Given the description of an element on the screen output the (x, y) to click on. 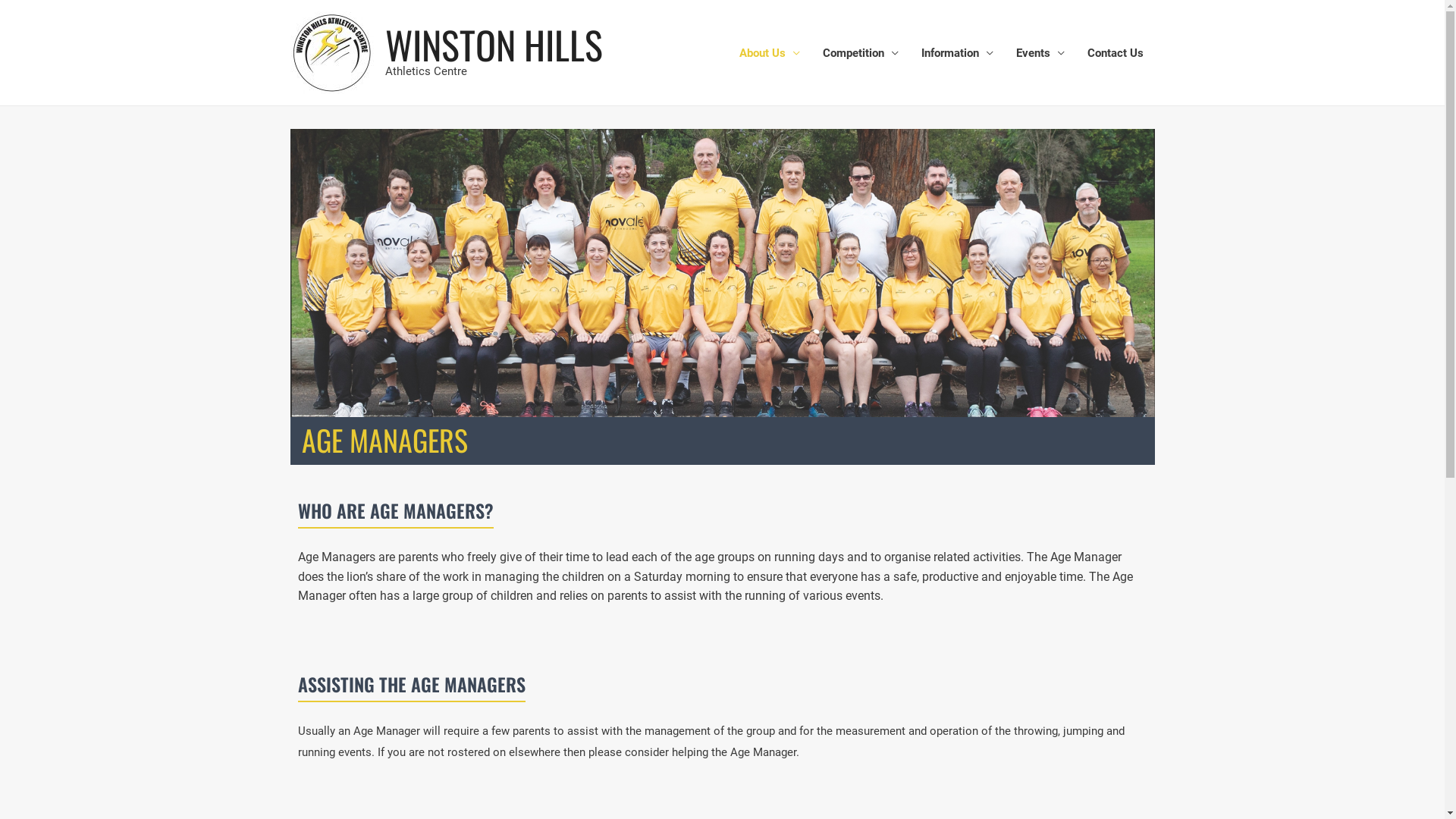
About Us Element type: text (769, 52)
Information Element type: text (957, 52)
WINSTON HILLS Element type: text (493, 43)
Contact Us Element type: text (1114, 52)
Competition Element type: text (860, 52)
Events Element type: text (1039, 52)
